Given the description of an element on the screen output the (x, y) to click on. 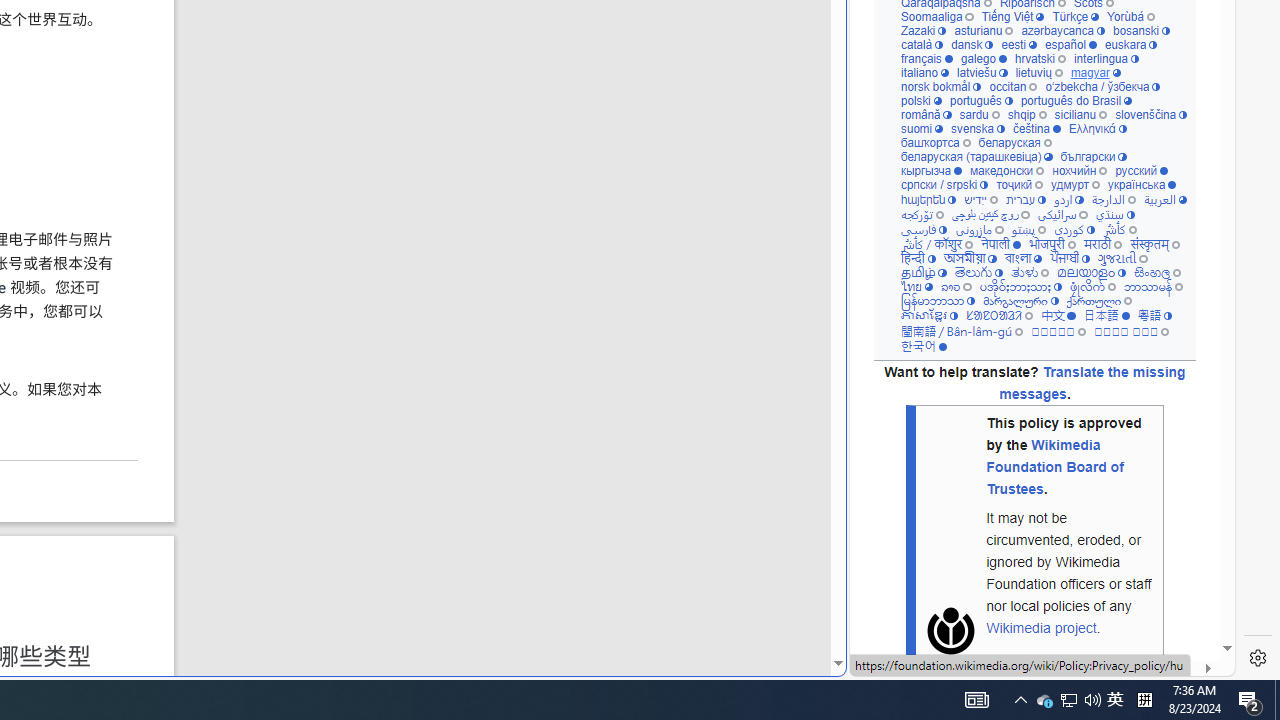
dansk (972, 45)
Wikimedia Foundation Board of Trustees (1054, 466)
asturianu (983, 30)
asturianu (983, 30)
Soomaaliga (936, 17)
